Given the description of an element on the screen output the (x, y) to click on. 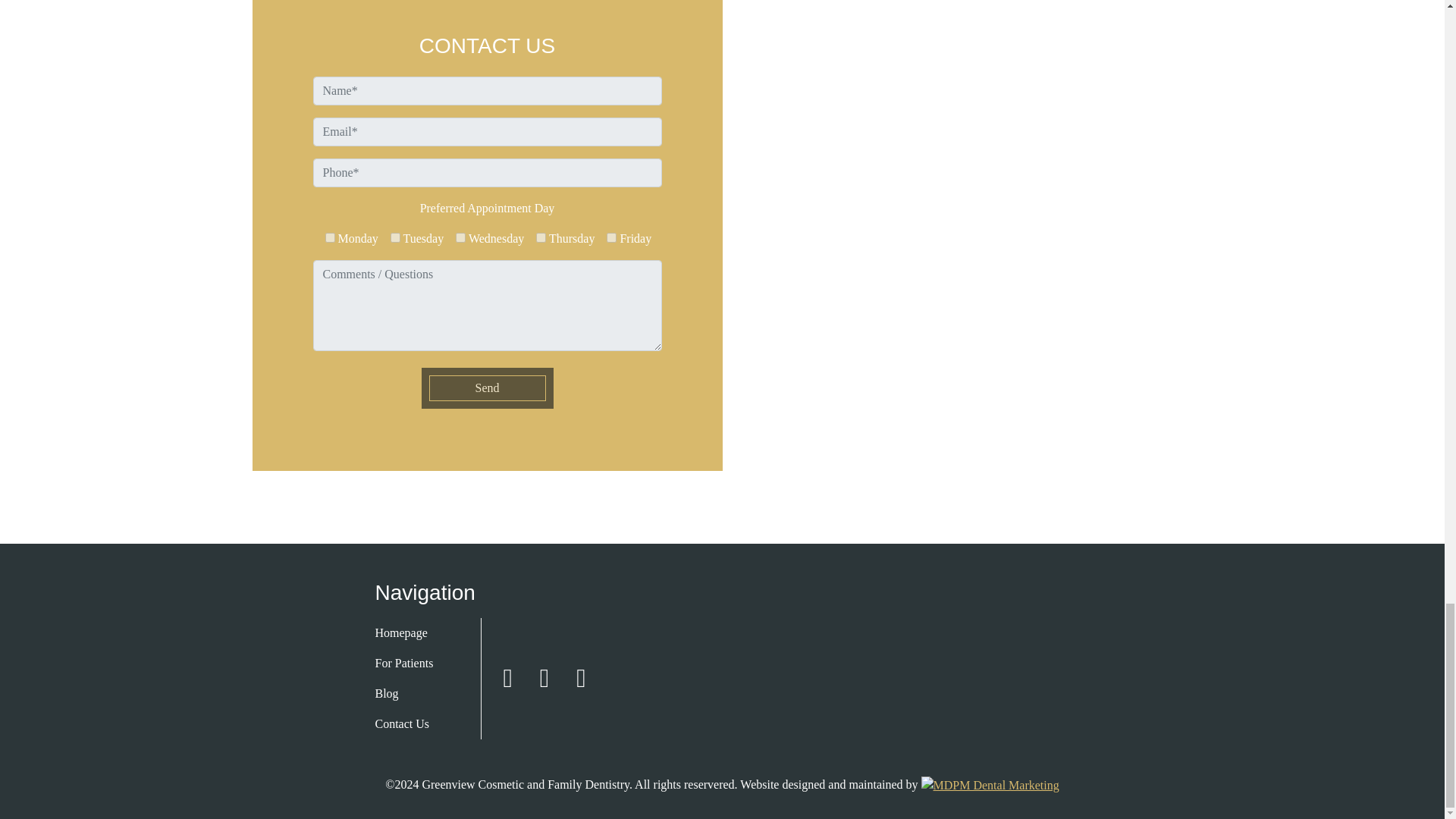
Friday (611, 237)
Tuesday (395, 237)
Send (487, 388)
Thursday (540, 237)
Monday (329, 237)
For Patients (409, 663)
Blog (409, 693)
Wednesday (460, 237)
Homepage (409, 633)
